Given the description of an element on the screen output the (x, y) to click on. 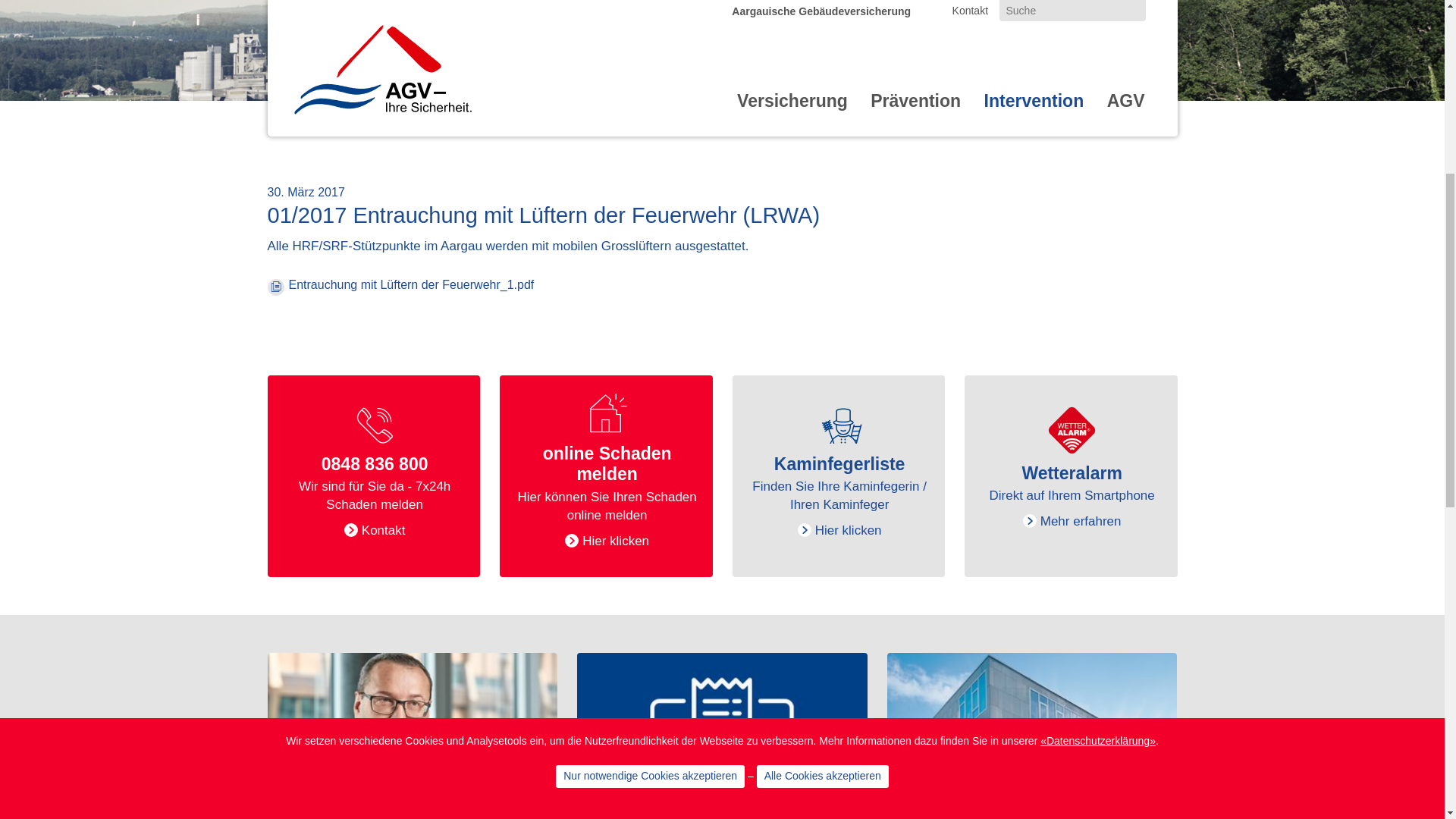
Kontakt Element type: text (970, 410)
Planer/-in Element type: text (360, 444)
AGV Element type: text (1125, 509)
Versicherung Element type: text (792, 509)
Feuerwehr Element type: text (365, 358)
Intervention Element type: text (1034, 509)
Home Element type: hover (380, 467)
